Given the description of an element on the screen output the (x, y) to click on. 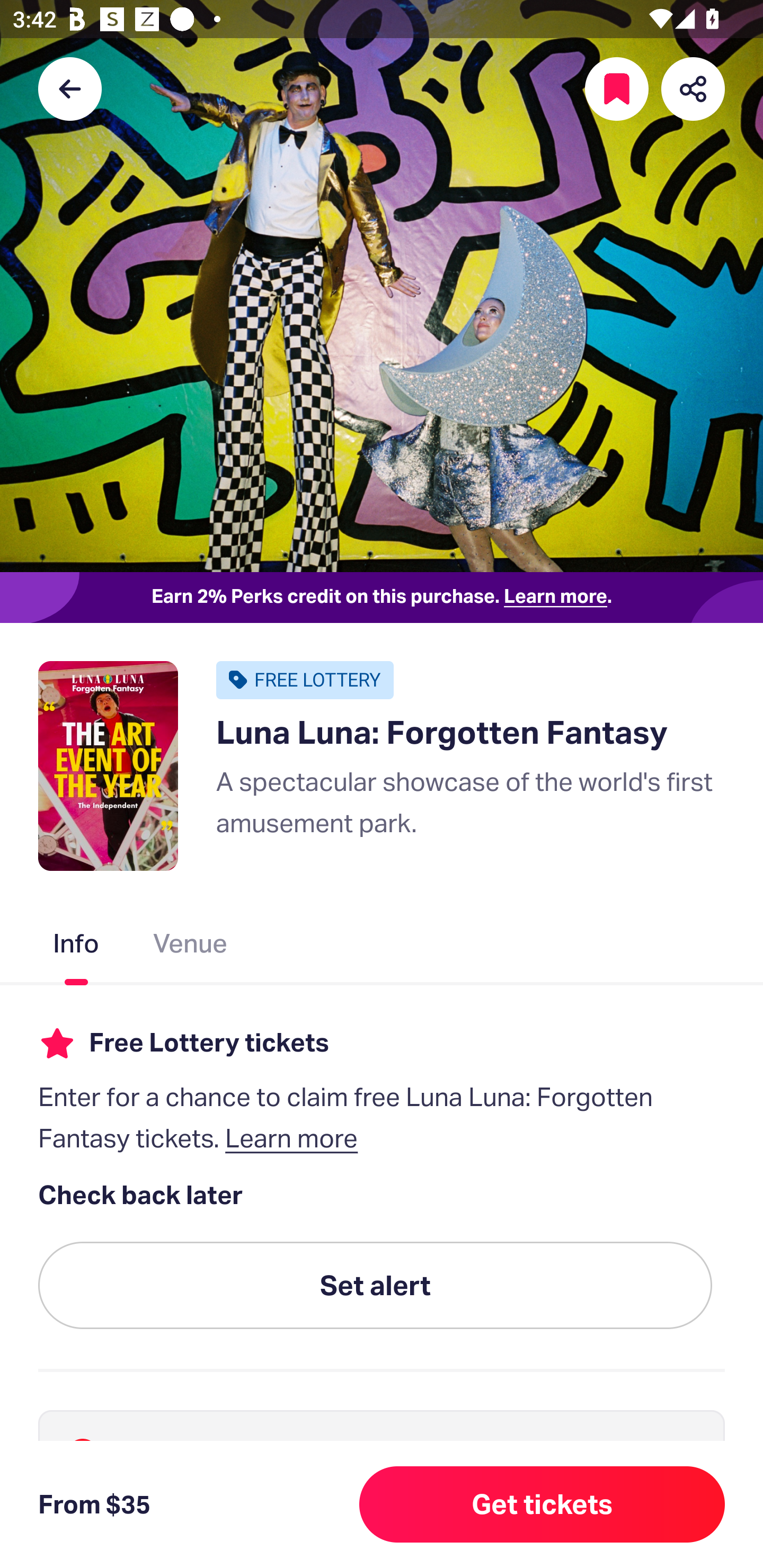
Earn 2% Perks credit on this purchase. Learn more. (381, 597)
Venue (190, 946)
Set alert (374, 1286)
Get tickets (541, 1504)
